Given the description of an element on the screen output the (x, y) to click on. 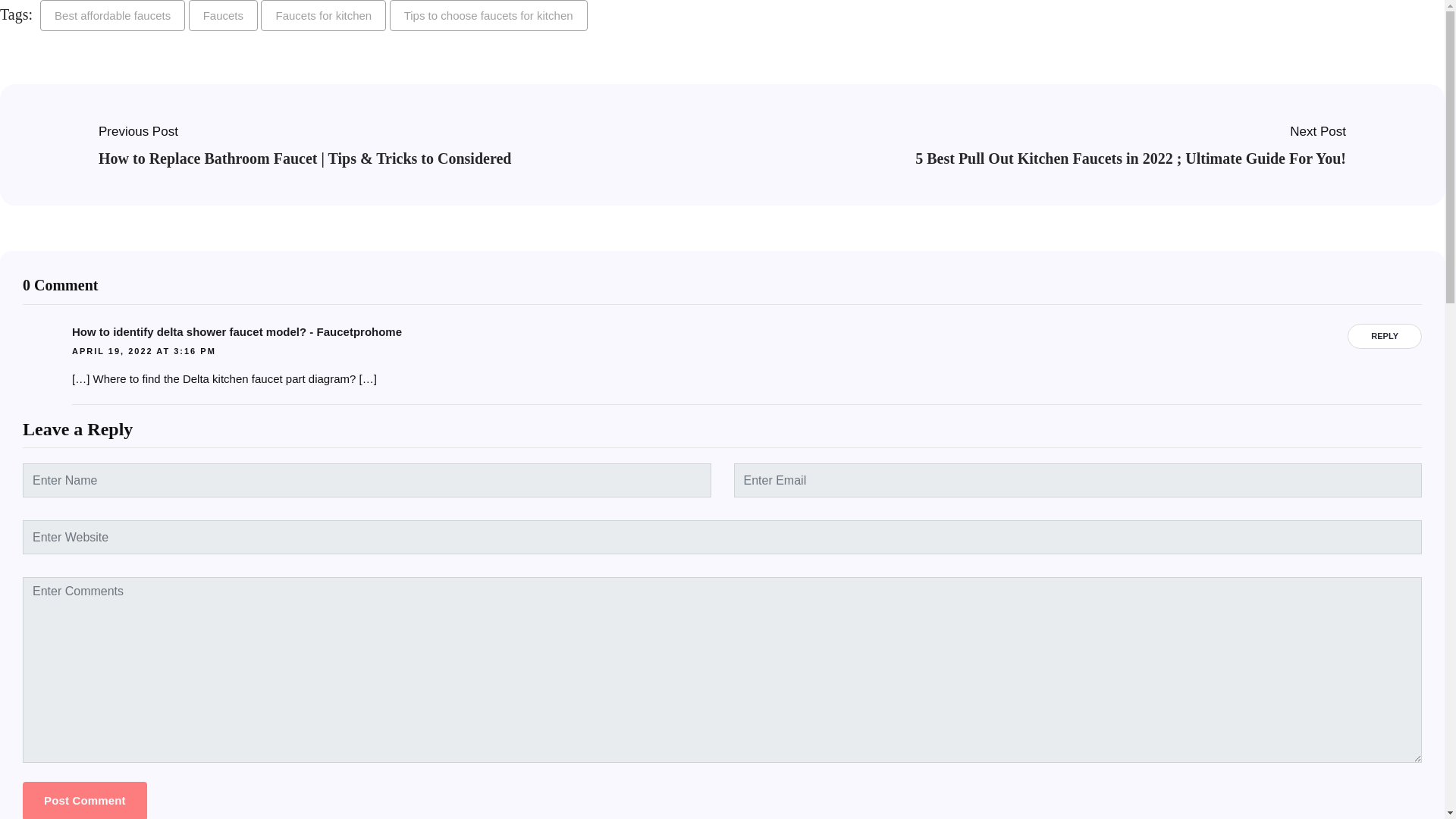
Tips to choose faucets for kitchen (489, 15)
How to identify delta shower faucet model? - Faucetprohome (746, 332)
Best affordable faucets (112, 15)
Post Comment (85, 800)
Faucets for kitchen (322, 15)
Post Comment (85, 800)
REPLY (1385, 335)
Faucets (223, 15)
